Given the description of an element on the screen output the (x, y) to click on. 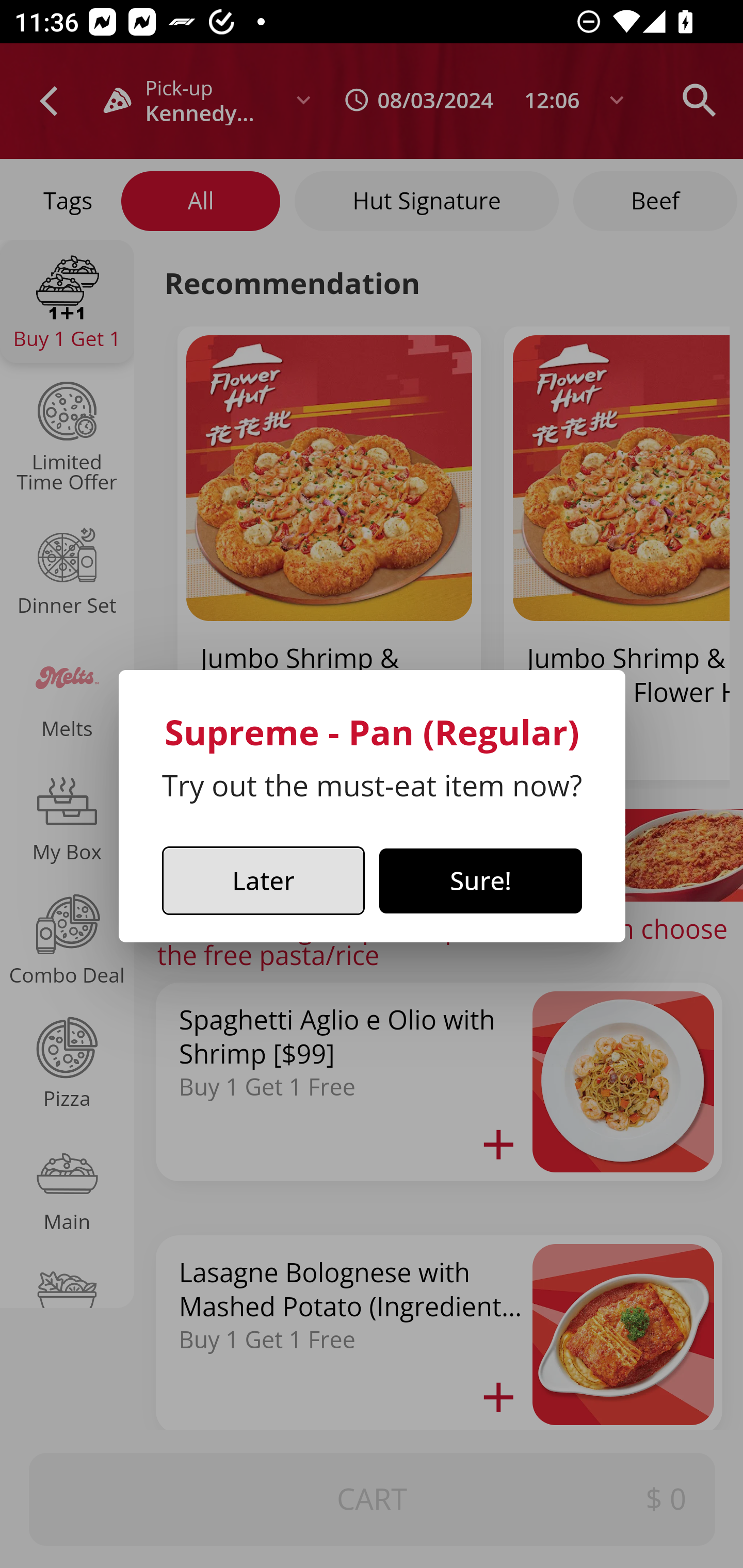
Later (263, 881)
Sure! (480, 880)
